Given the description of an element on the screen output the (x, y) to click on. 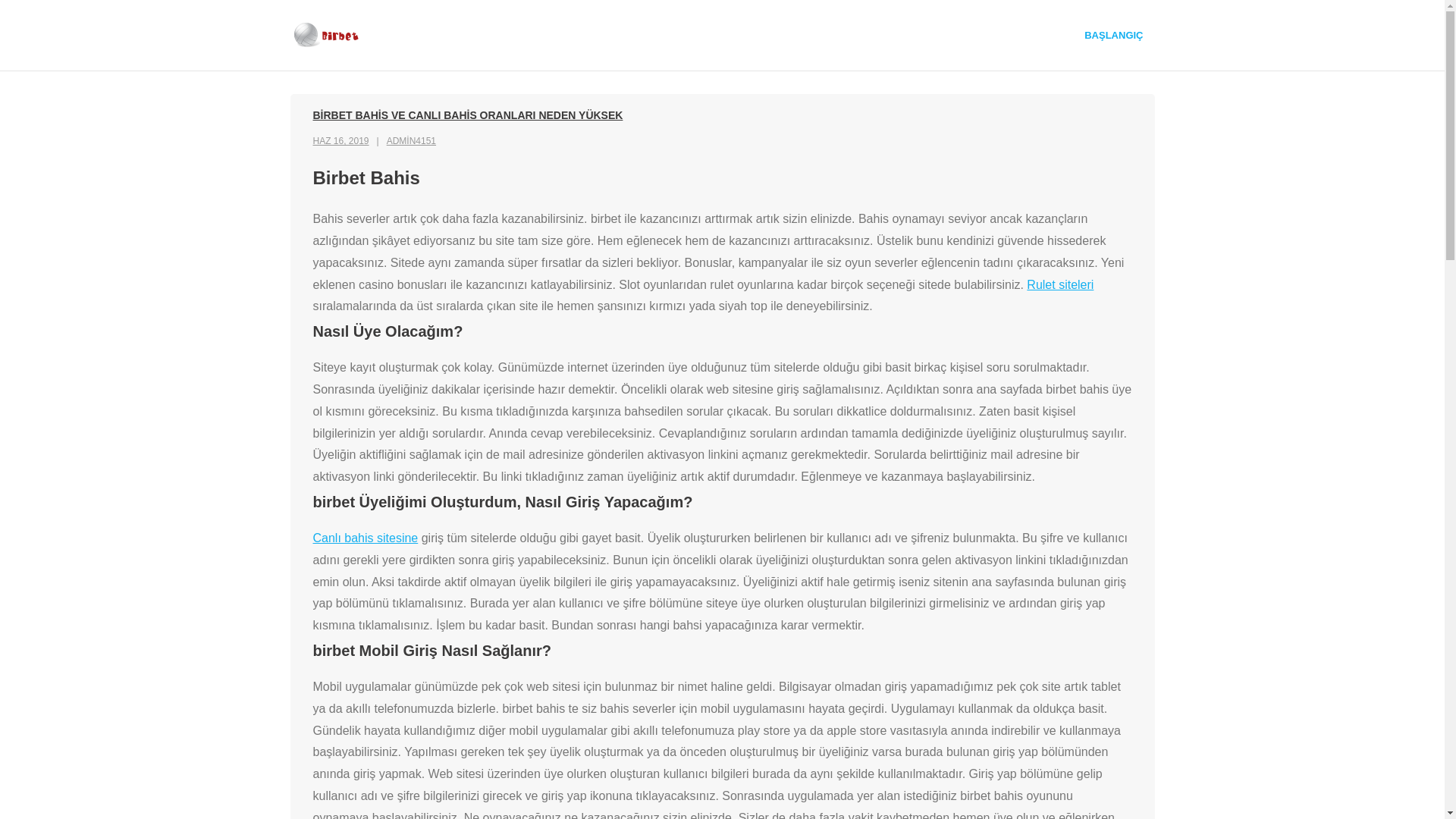
HAZ 16, 2019 Element type: text (340, 140)
ADMIN4151 Element type: text (411, 140)
Rulet siteleri Element type: text (1059, 284)
